Given the description of an element on the screen output the (x, y) to click on. 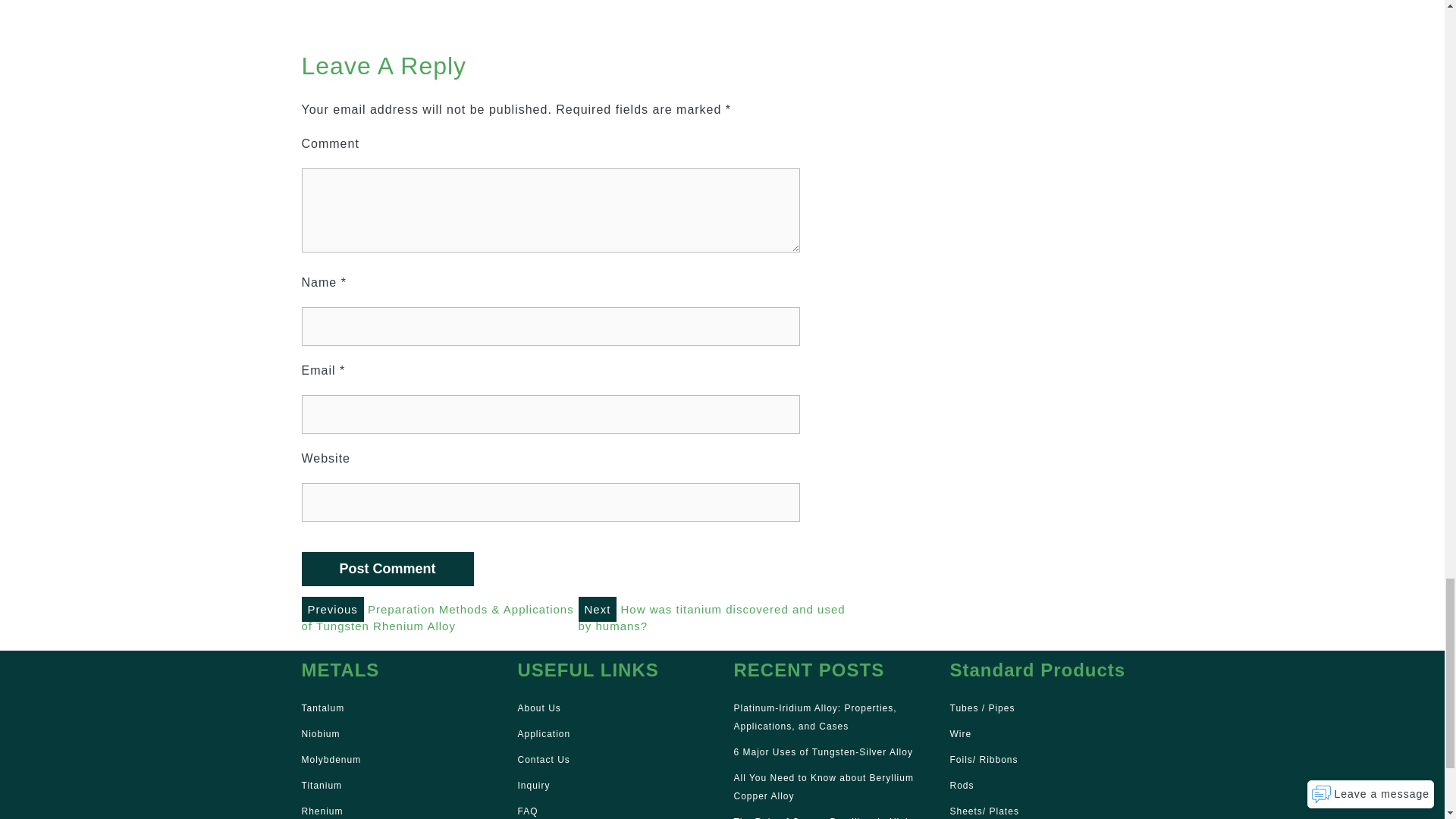
Post Comment (387, 569)
